Given the description of an element on the screen output the (x, y) to click on. 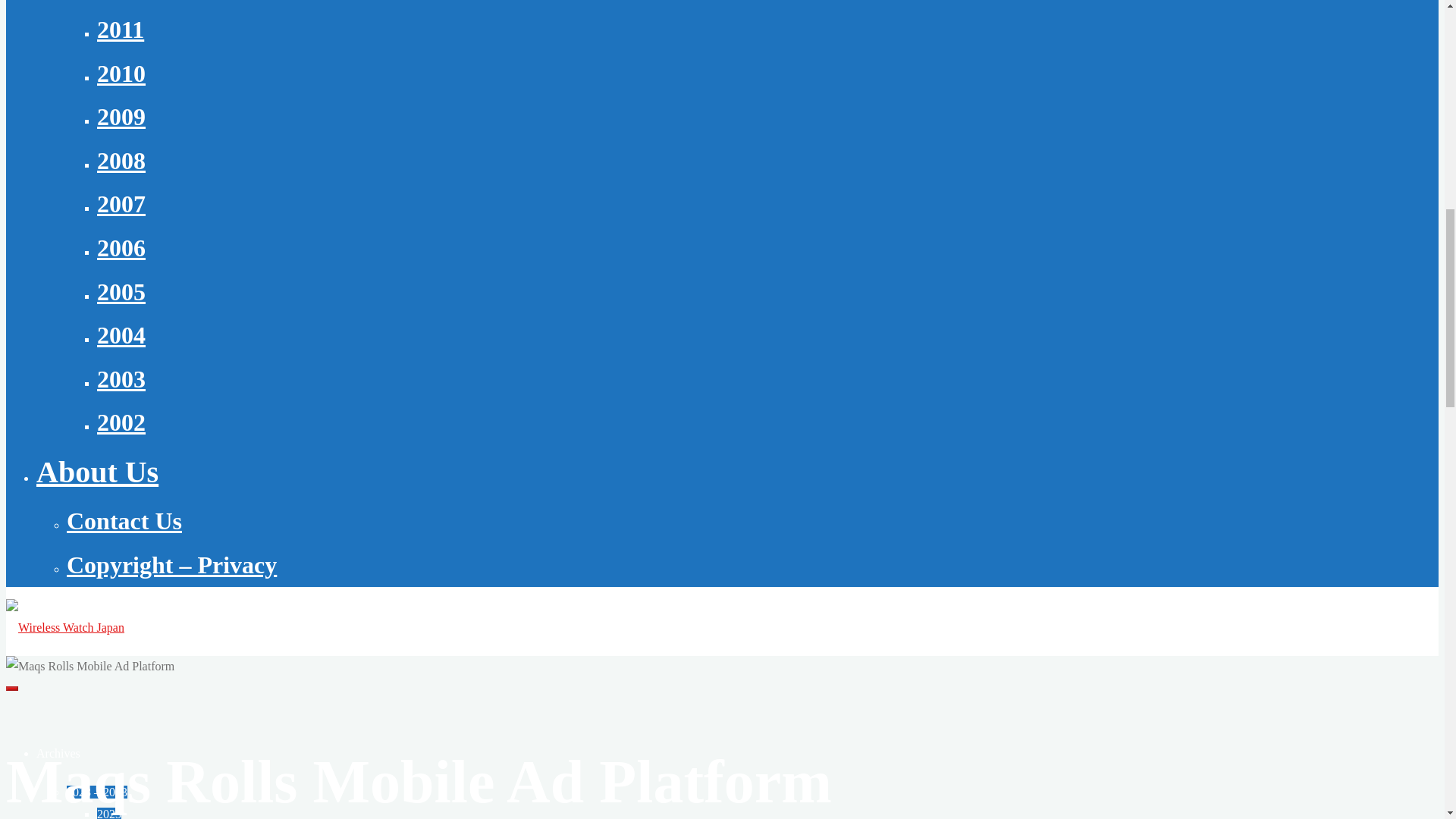
About Us (97, 471)
2004 (121, 334)
2005 (121, 291)
2006 (121, 247)
Archives (58, 753)
2009 (121, 116)
2007 (121, 203)
2003 (121, 379)
2002 (121, 421)
2011 (120, 29)
Wireless Watch Japan (64, 626)
2010 (121, 72)
Contact Us (124, 520)
2008 (121, 160)
2023 (108, 813)
